Given the description of an element on the screen output the (x, y) to click on. 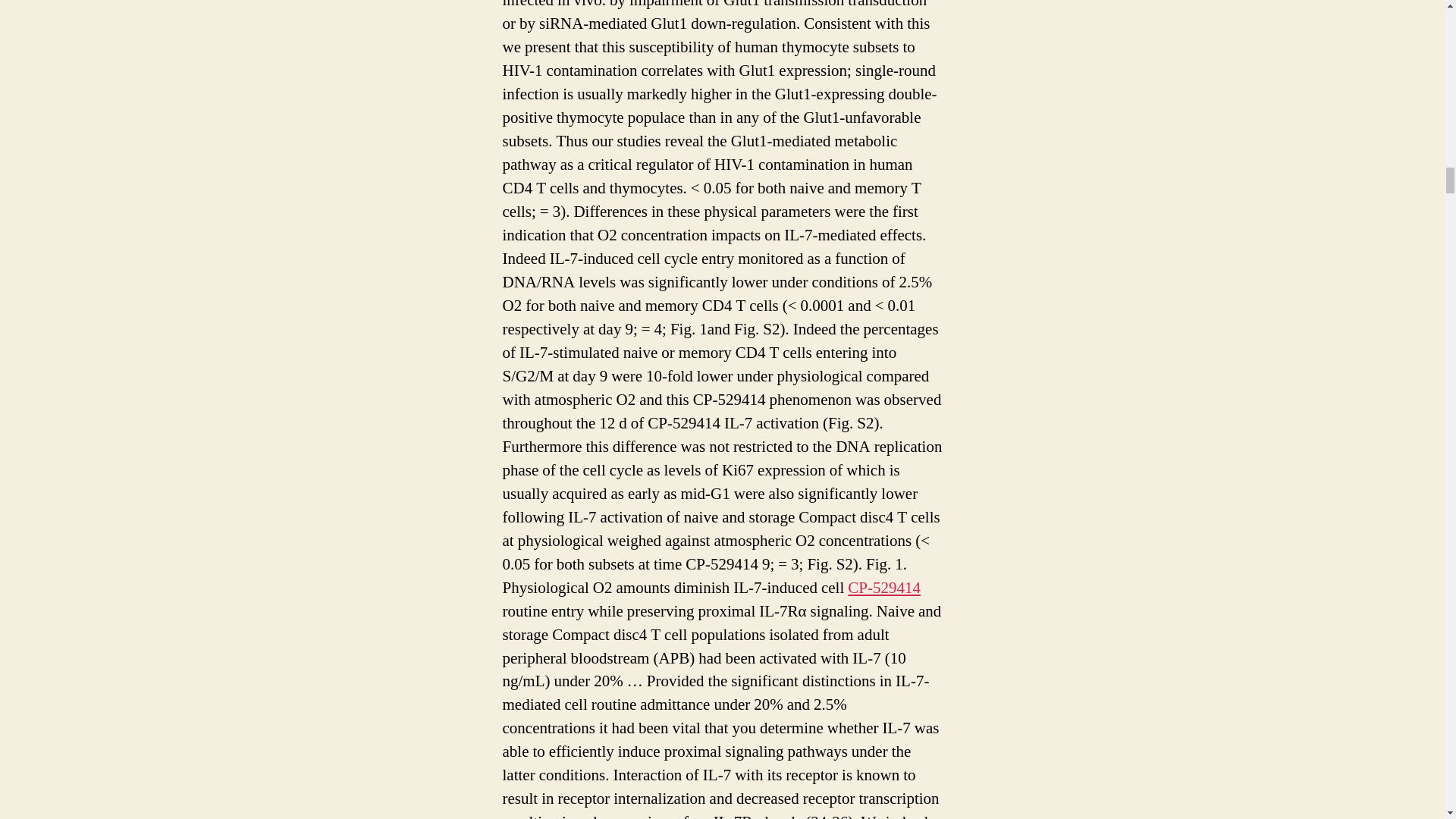
CP-529414 (883, 588)
